Given the description of an element on the screen output the (x, y) to click on. 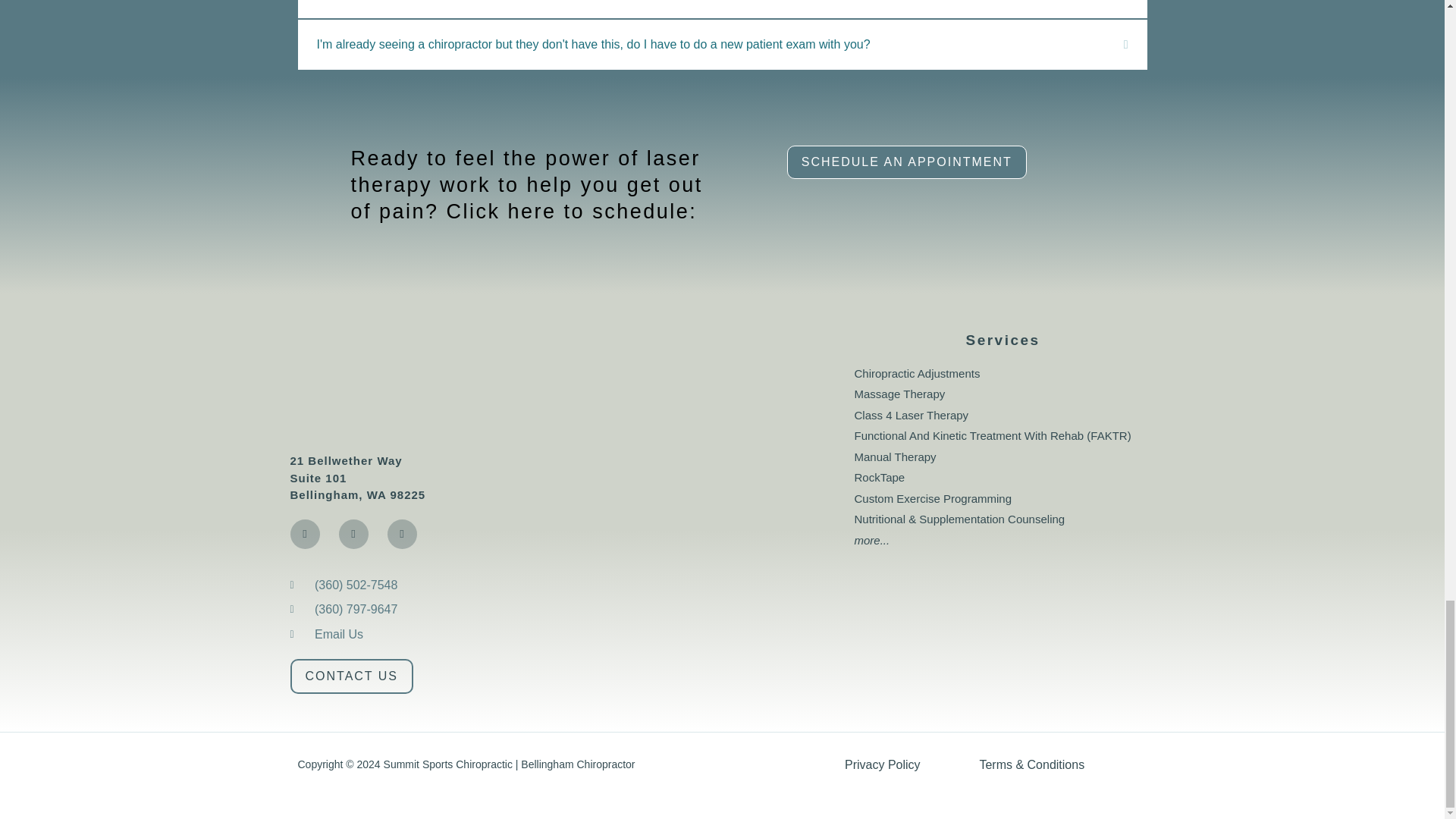
Chiropractic Adjustments (1002, 374)
Custom Exercise Programming (1002, 498)
more... (1002, 540)
Instagram (352, 533)
Email Us (407, 634)
CONTACT US (351, 676)
RockTape (1002, 477)
Summit Sports Chiropractic 1704 N State Street Bellingham (678, 465)
Youtube (401, 533)
Manual Therapy (1002, 457)
